Given the description of an element on the screen output the (x, y) to click on. 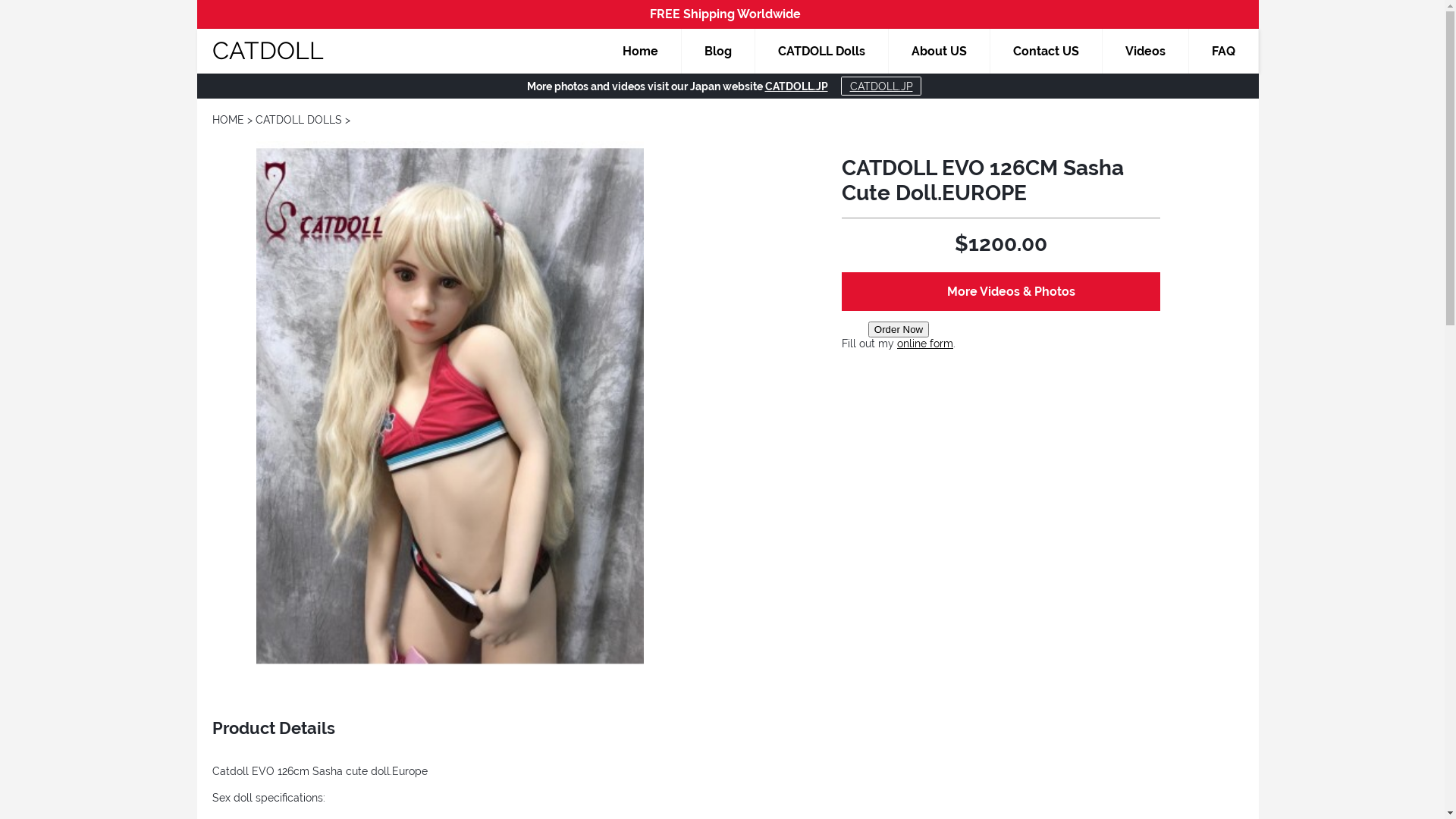
Order Now Element type: text (898, 329)
FREE Shipping Worldwide Element type: text (724, 14)
About US Element type: text (939, 50)
CATDOLL.JP Element type: text (795, 86)
CATDOLL.JP Element type: text (880, 85)
CATDOLL DOLLS Element type: text (298, 119)
Blog Element type: text (718, 50)
CATDOLL Dolls Element type: text (821, 50)
Home Element type: text (640, 50)
FAQ Element type: text (1223, 50)
online form Element type: text (925, 343)
HOME Element type: text (228, 119)
More Videos & Photos Element type: text (1000, 291)
Videos Element type: text (1145, 50)
CATDOLL Element type: text (267, 50)
Contact US Element type: text (1046, 50)
CATDOLL.JP Element type: text (880, 86)
